Given the description of an element on the screen output the (x, y) to click on. 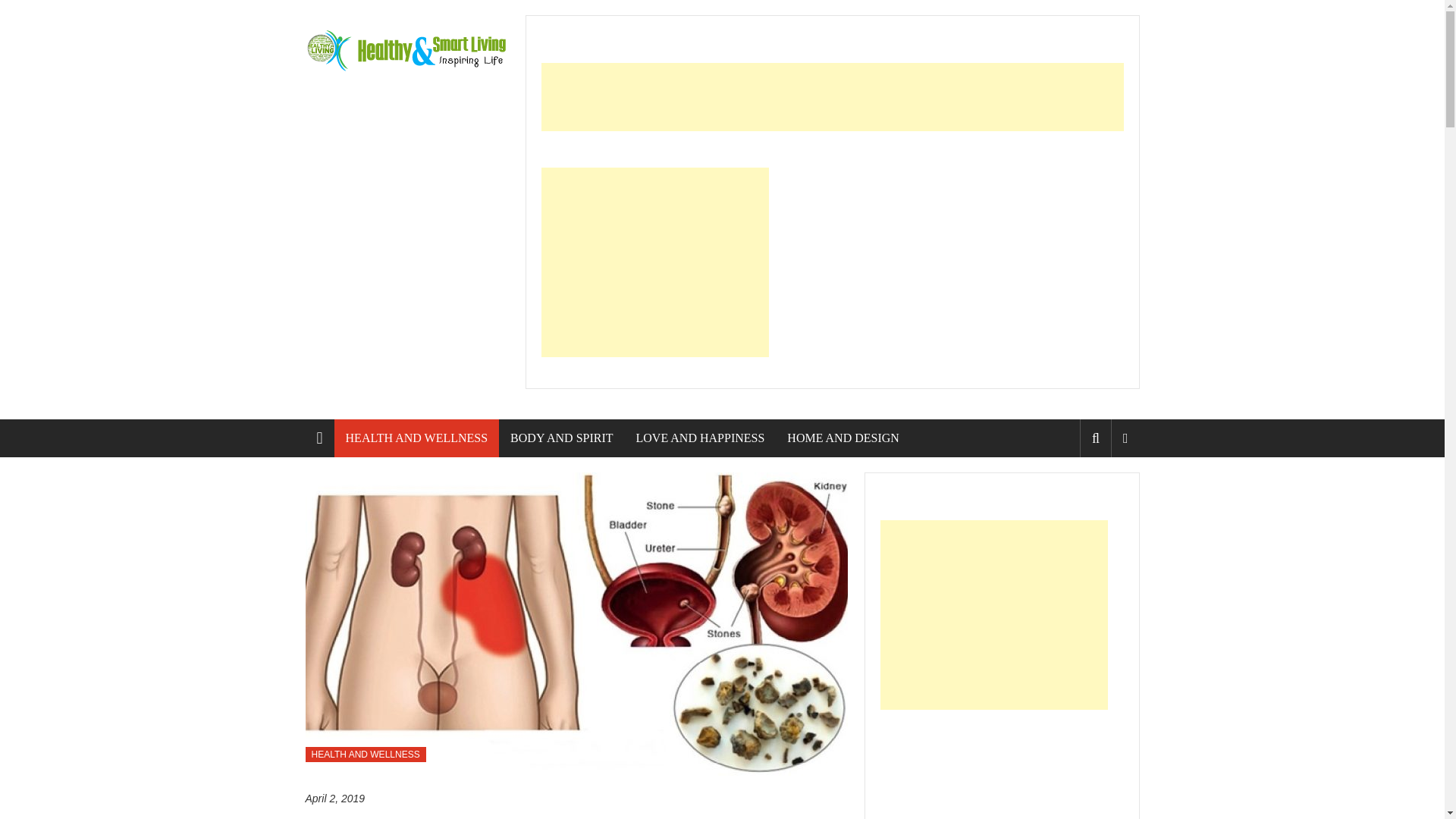
HOME AND DESIGN (843, 438)
8:19 pm (334, 798)
April 2, 2019 (334, 798)
BODY AND SPIRIT (561, 438)
LOVE AND HAPPINESS (700, 438)
HEALTH AND WELLNESS (364, 754)
HEALTH AND WELLNESS (416, 438)
